Given the description of an element on the screen output the (x, y) to click on. 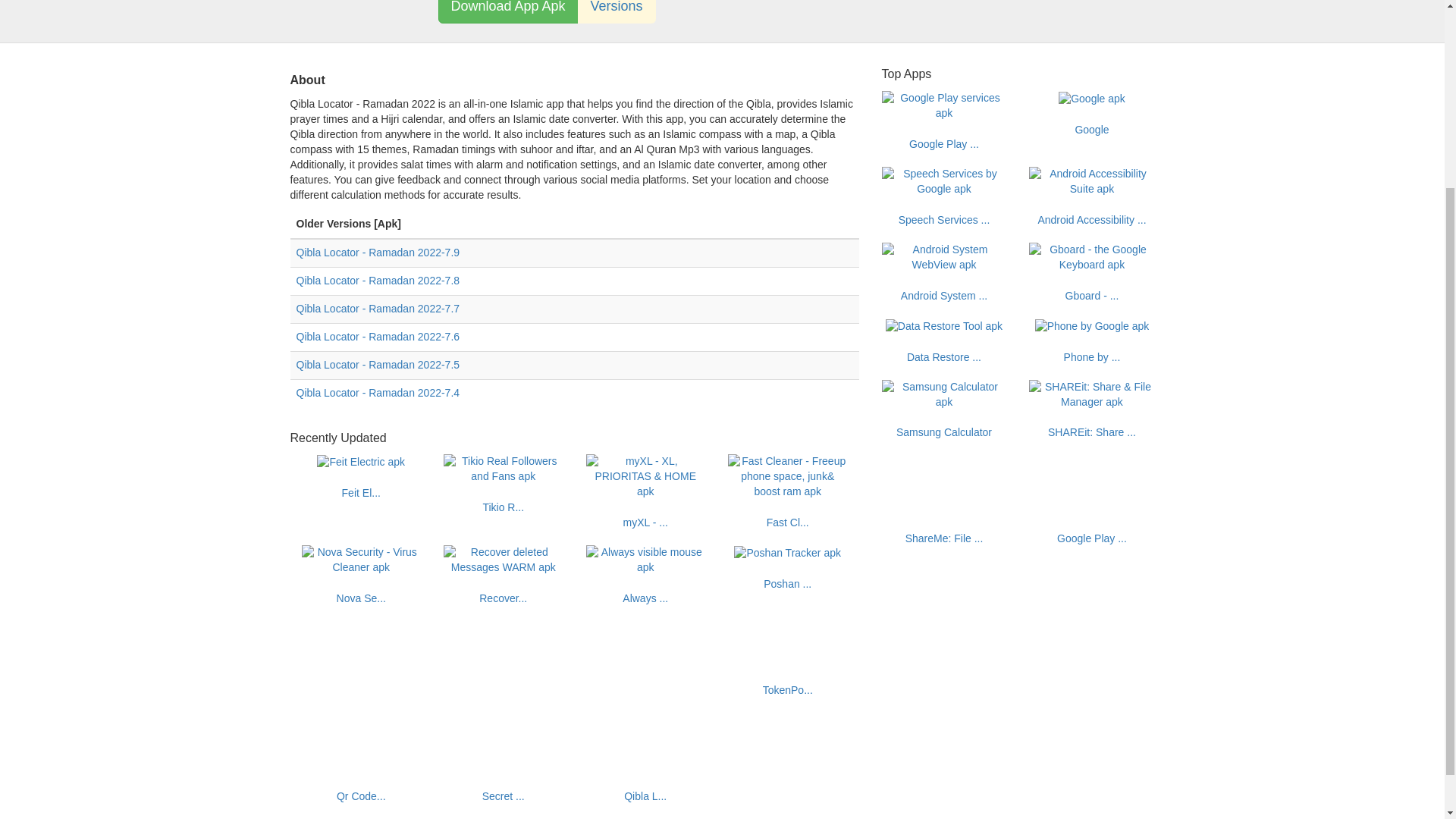
Feit El... (361, 492)
Nova Security - Virus Cleaner apk for android (361, 559)
Versions (617, 12)
Tikio R... (502, 507)
TokenPocket Wallet Crypto DeFi apk for android (787, 689)
Download App Apk (508, 12)
Qibla Locator - Ramadan 2022-7.7 (377, 308)
Qibla L... (645, 796)
TokenPo... (787, 689)
Qibla Locator - Ramadan 2022-7.9 (377, 252)
